Given the description of an element on the screen output the (x, y) to click on. 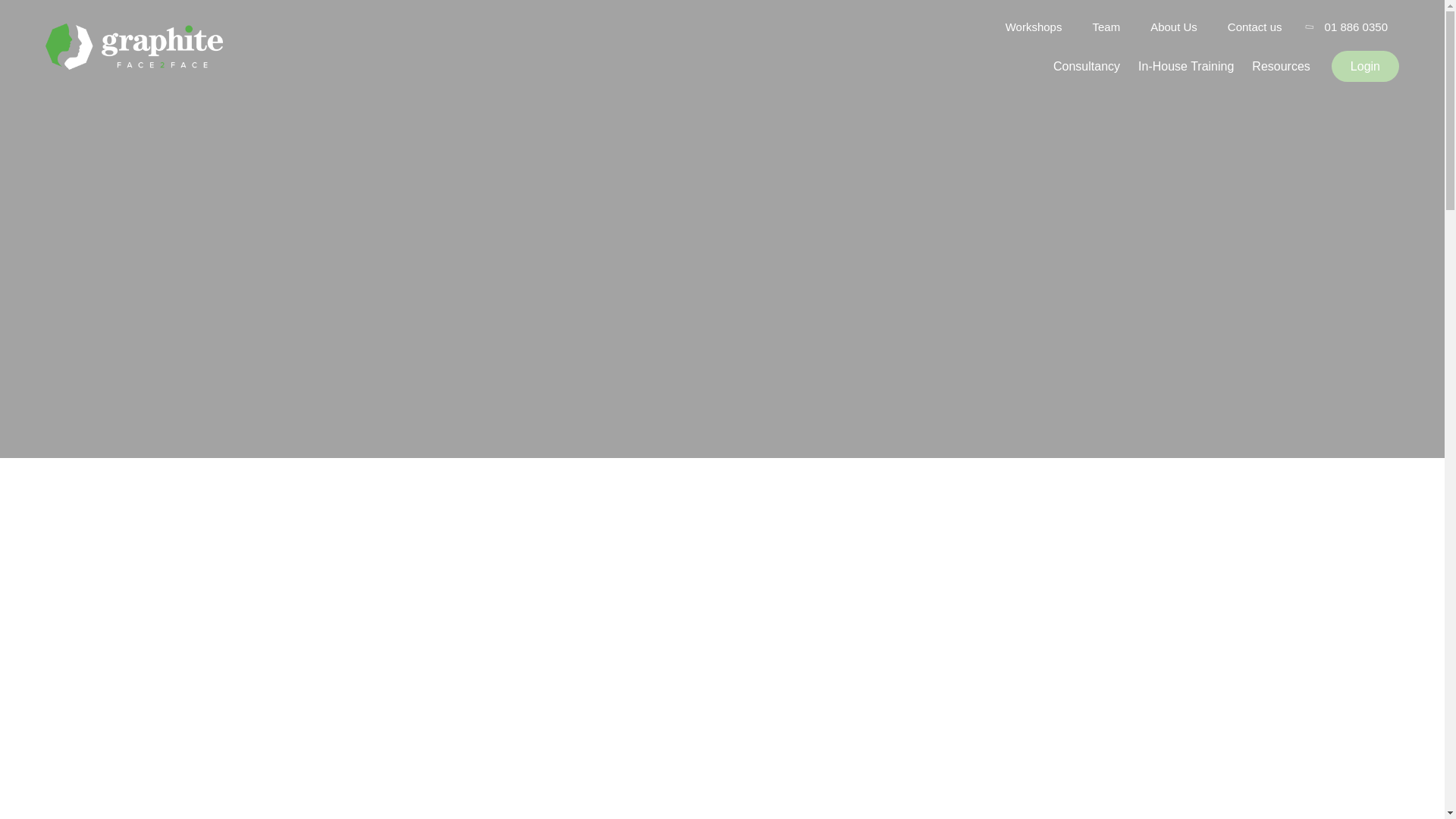
Consultancy (1086, 65)
Contact us (1254, 26)
In-House Training (1186, 65)
Login (1365, 65)
Workshops (1034, 26)
Team (1105, 26)
Resources (1281, 65)
01 886 0350 (1356, 26)
About Us (1173, 26)
